Given the description of an element on the screen output the (x, y) to click on. 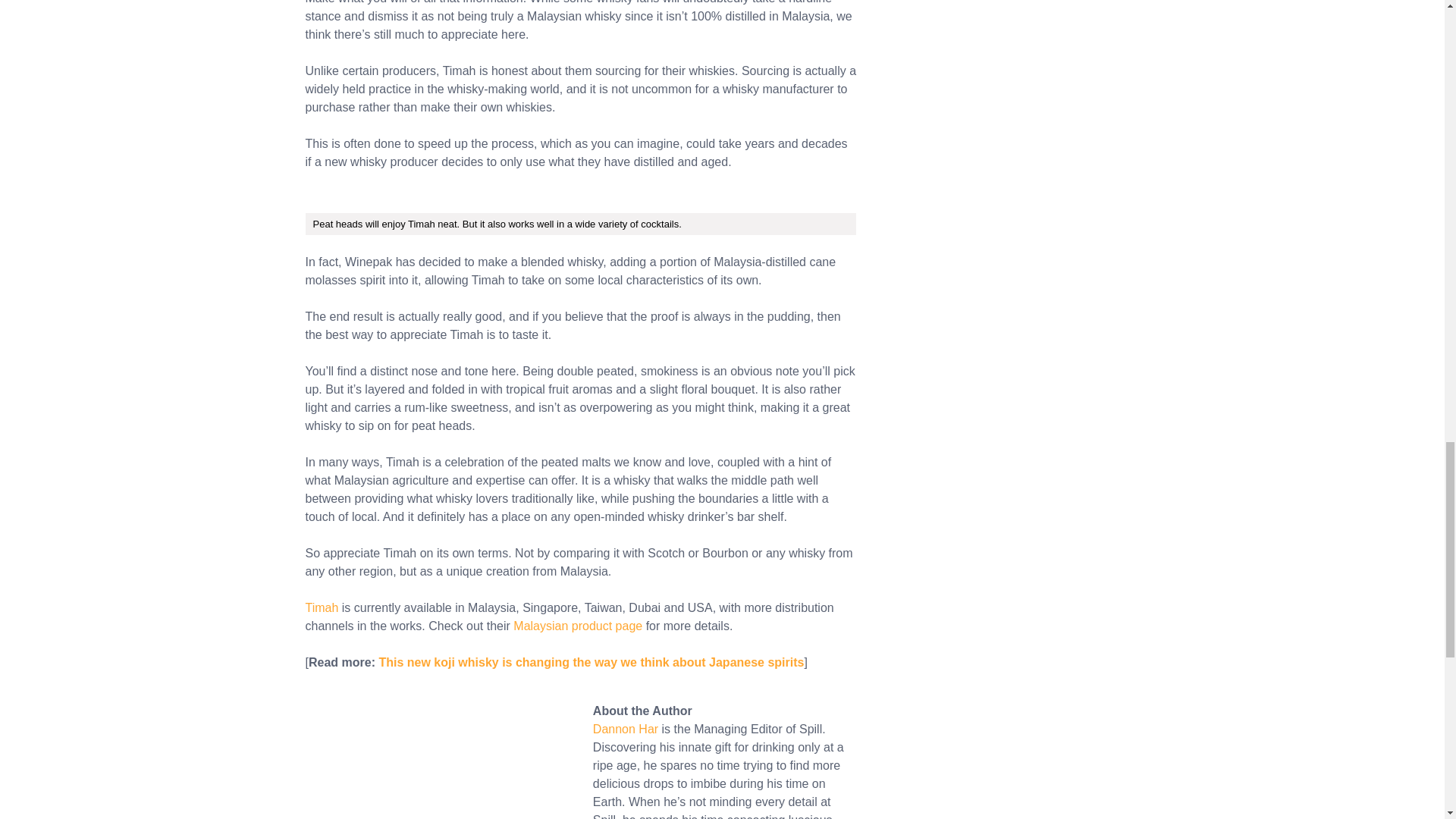
Dannon Har (625, 728)
Malaysian product page (577, 625)
Timah (320, 607)
